Given the description of an element on the screen output the (x, y) to click on. 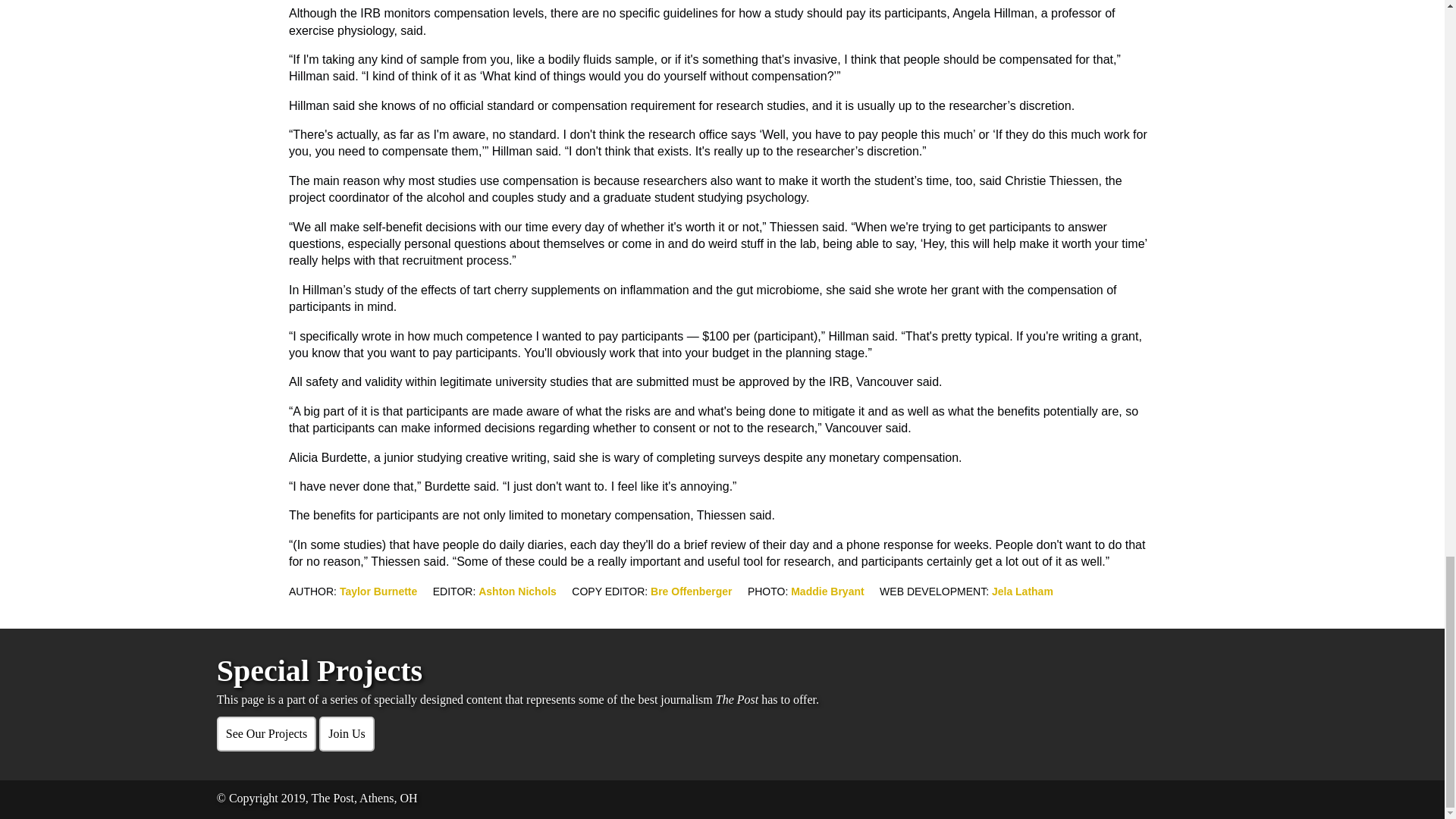
Join Us (346, 733)
Taylor Burnette (377, 590)
Jela Latham (1021, 590)
See Our Projects (266, 733)
See Our Projects (266, 733)
Maddie Bryant (826, 590)
Join Us (346, 733)
Ashton Nichols (517, 590)
Bre Offenberger (691, 590)
